Given the description of an element on the screen output the (x, y) to click on. 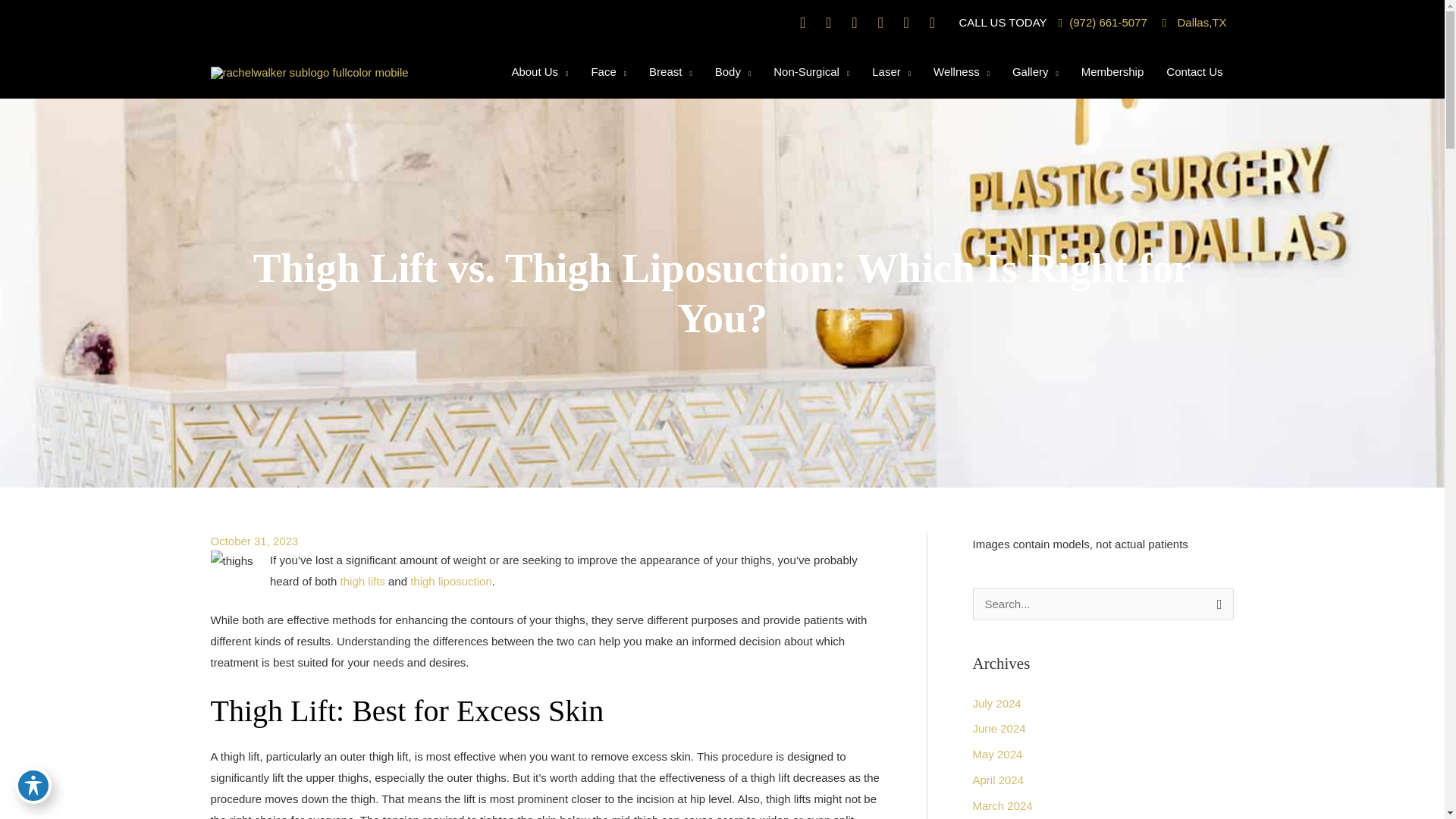
About Us (539, 71)
thighs (232, 560)
Face (608, 71)
Dallas,TX (1194, 21)
